Given the description of an element on the screen output the (x, y) to click on. 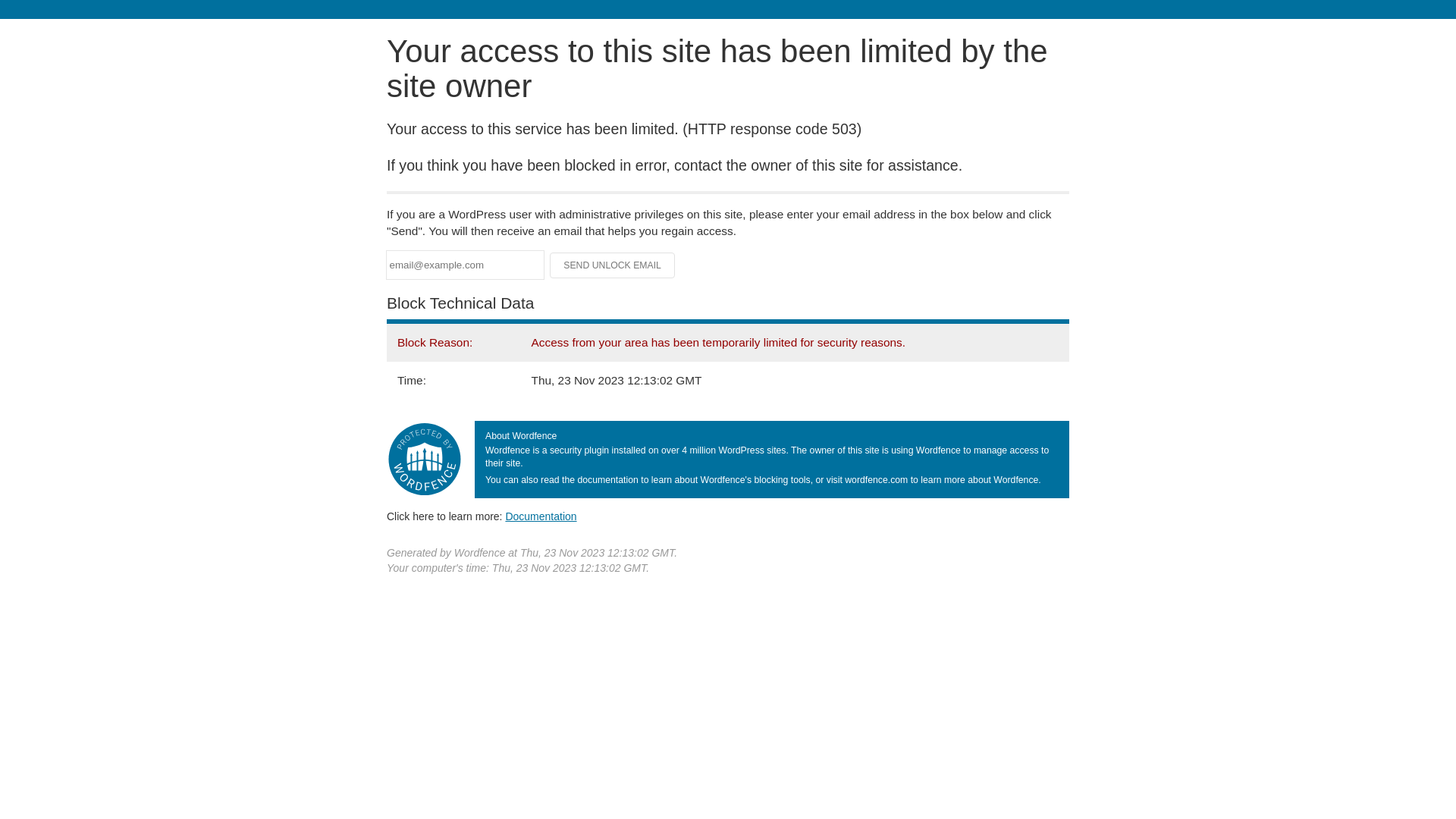
Send Unlock Email Element type: text (612, 265)
Documentation Element type: text (540, 516)
